Given the description of an element on the screen output the (x, y) to click on. 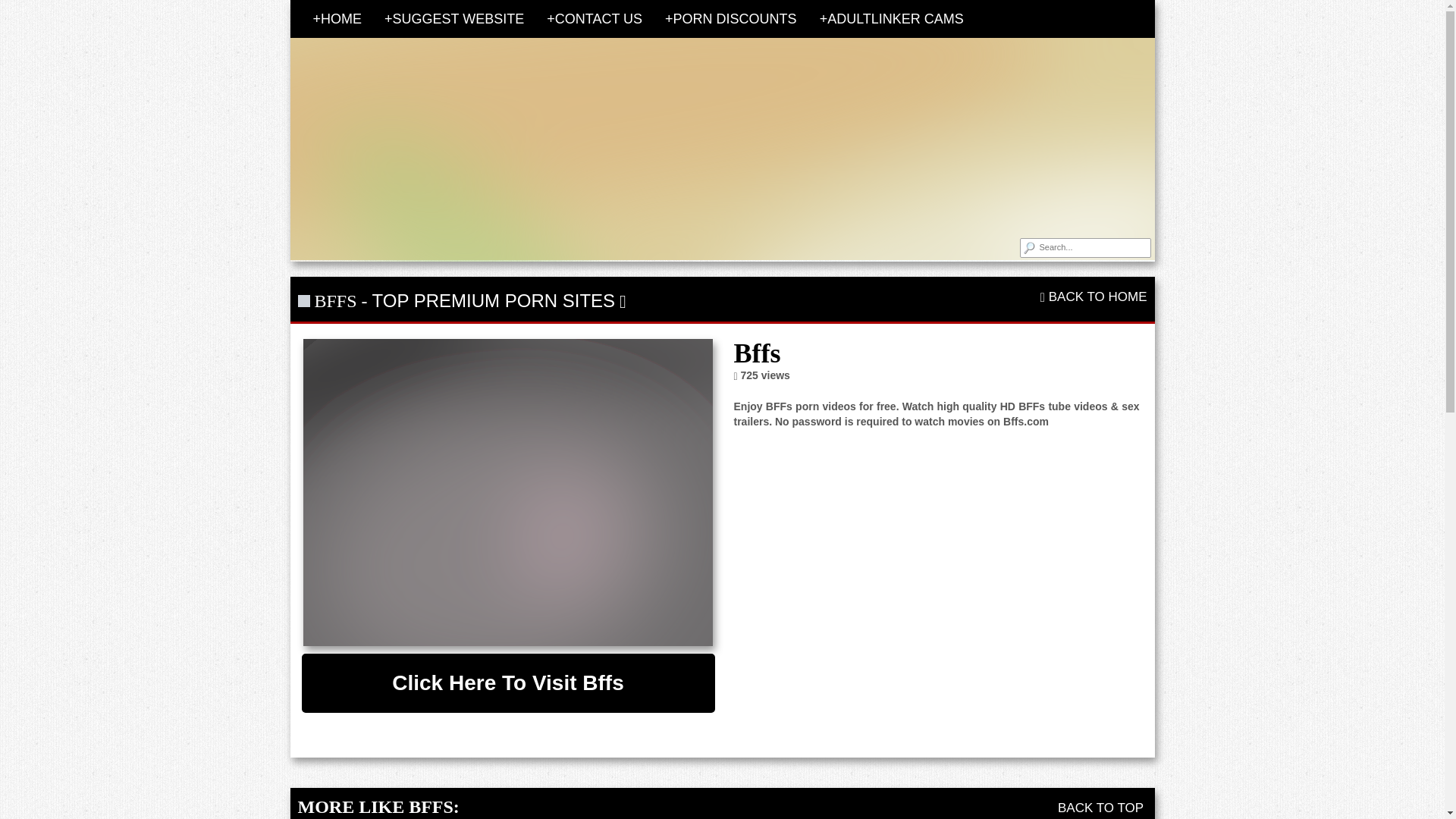
BACK TO HOME (1094, 296)
BACK TO TOP (1102, 807)
Bffs (507, 682)
TOP PREMIUM PORN SITES (493, 300)
Click Here To Visit Bffs (507, 682)
Bffs (507, 492)
Bffs (507, 492)
